Given the description of an element on the screen output the (x, y) to click on. 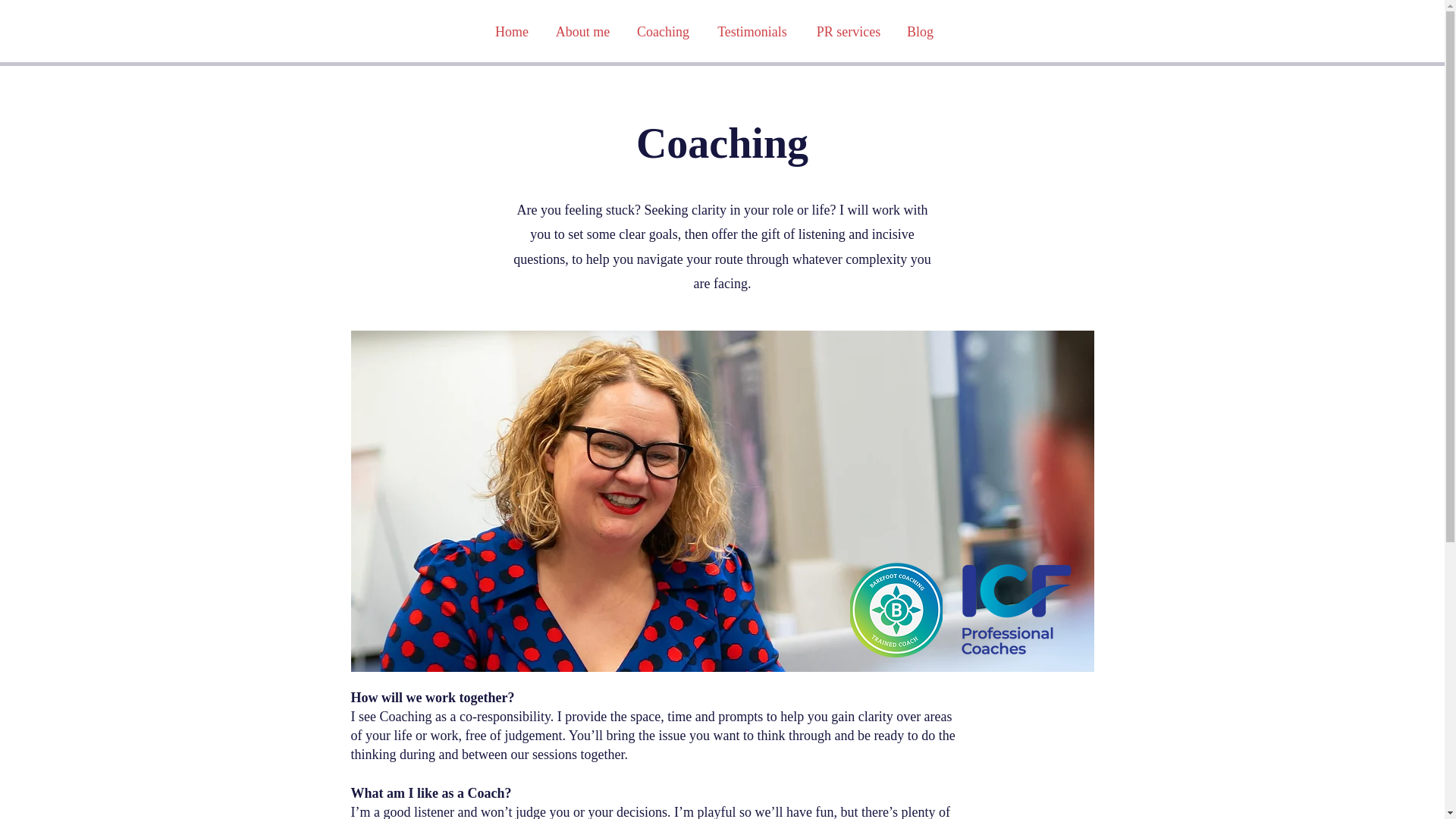
Home (511, 31)
About me (582, 31)
Blog (919, 31)
Testimonials (751, 31)
PR services (848, 31)
Coaching (662, 31)
